Given the description of an element on the screen output the (x, y) to click on. 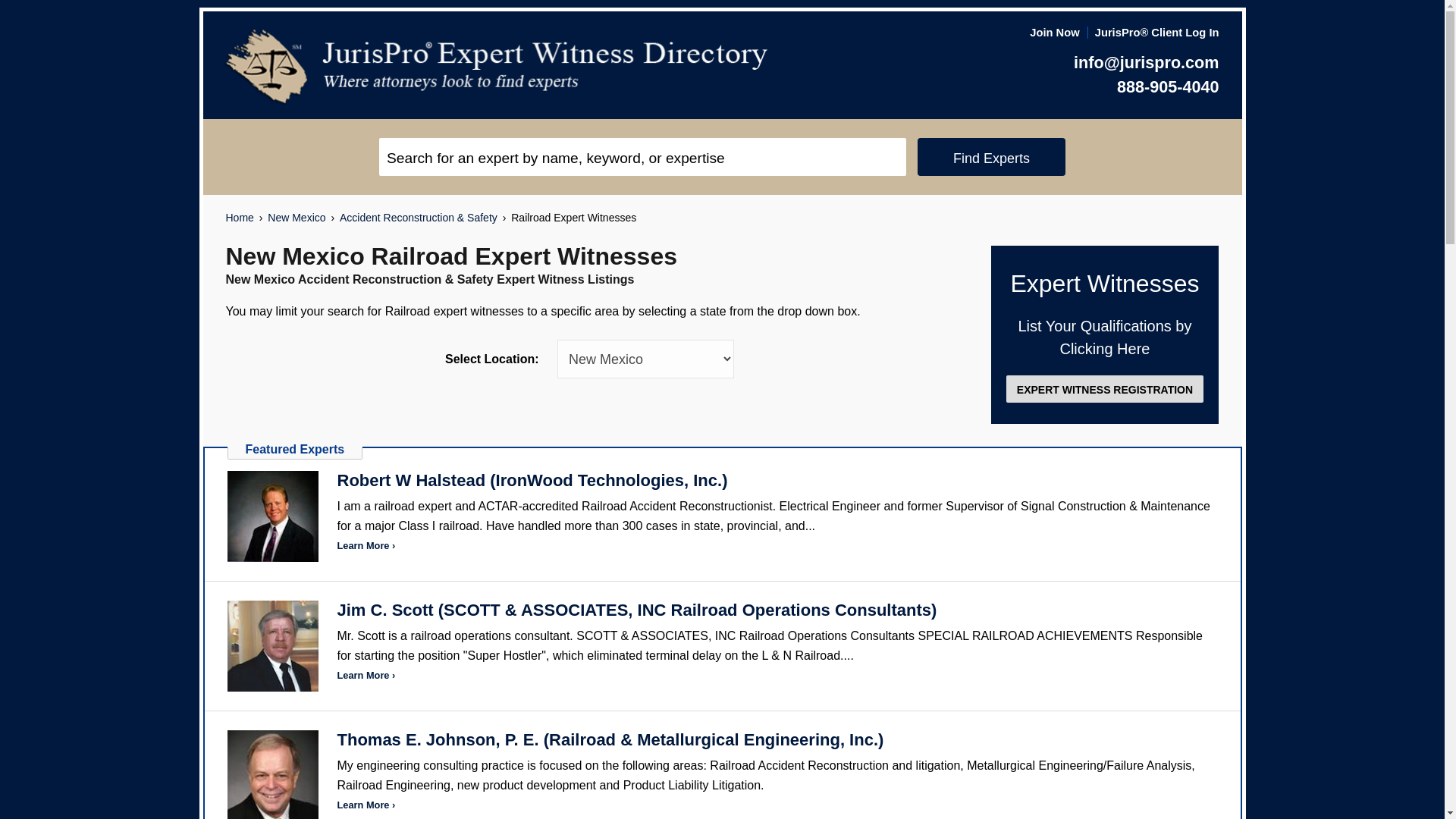
New Mexico (295, 217)
Join Now (1053, 32)
888-905-4040 (1167, 86)
Find Experts (991, 157)
JurisPro Expert Witness Directory (497, 66)
Home (239, 217)
EXPERT WITNESS REGISTRATION (1105, 388)
Search (641, 157)
